Given the description of an element on the screen output the (x, y) to click on. 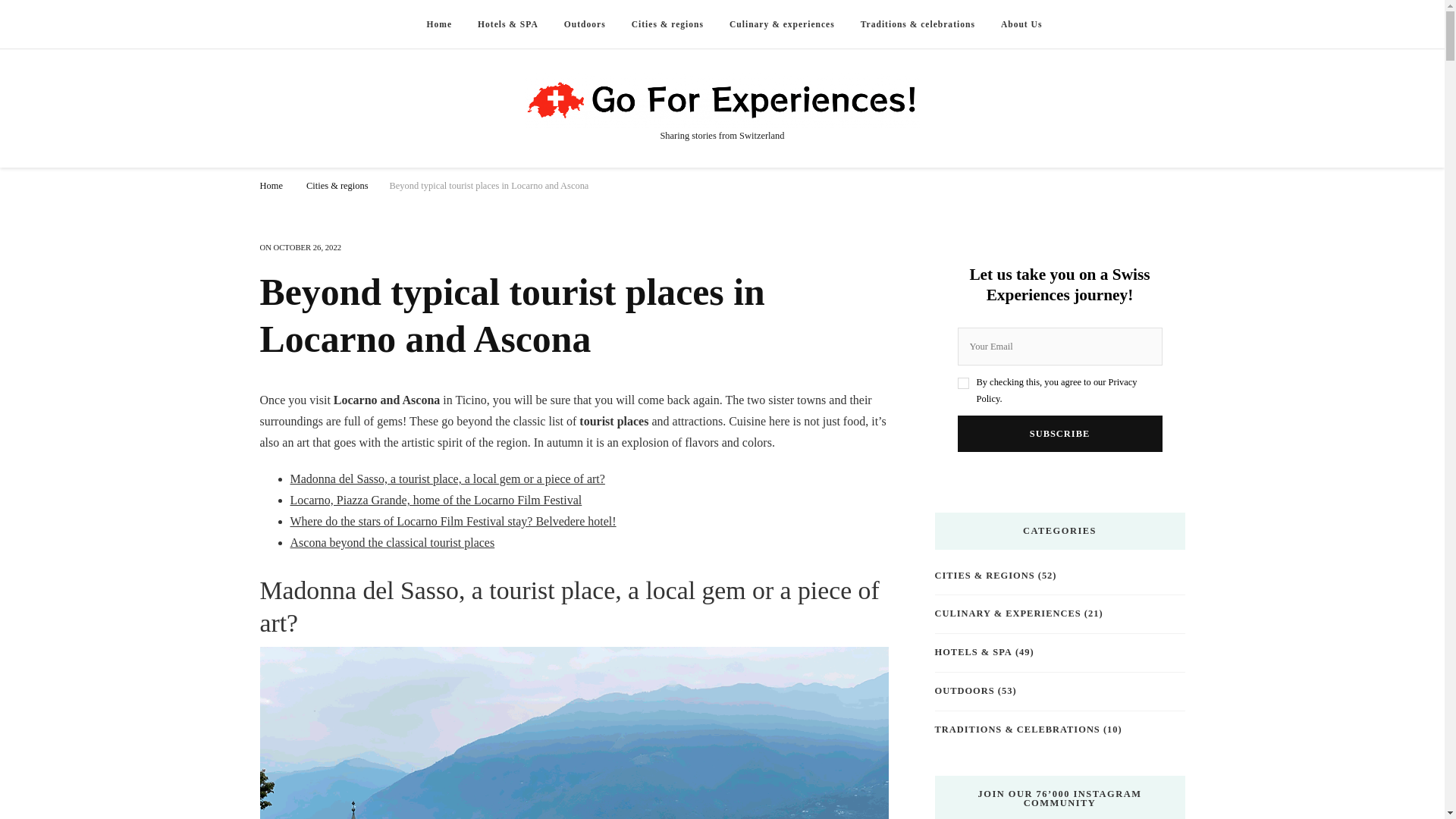
About Us (1022, 24)
Subscribe (1058, 433)
Locarno, Piazza Grande, home of the Locarno Film Festival (434, 499)
Go For Experiences! (721, 99)
Beyond typical tourist places in Locarno and Ascona (489, 185)
Ascona beyond the classical tourist places (392, 542)
Ascona beyond the classical tourist places (392, 542)
